Given the description of an element on the screen output the (x, y) to click on. 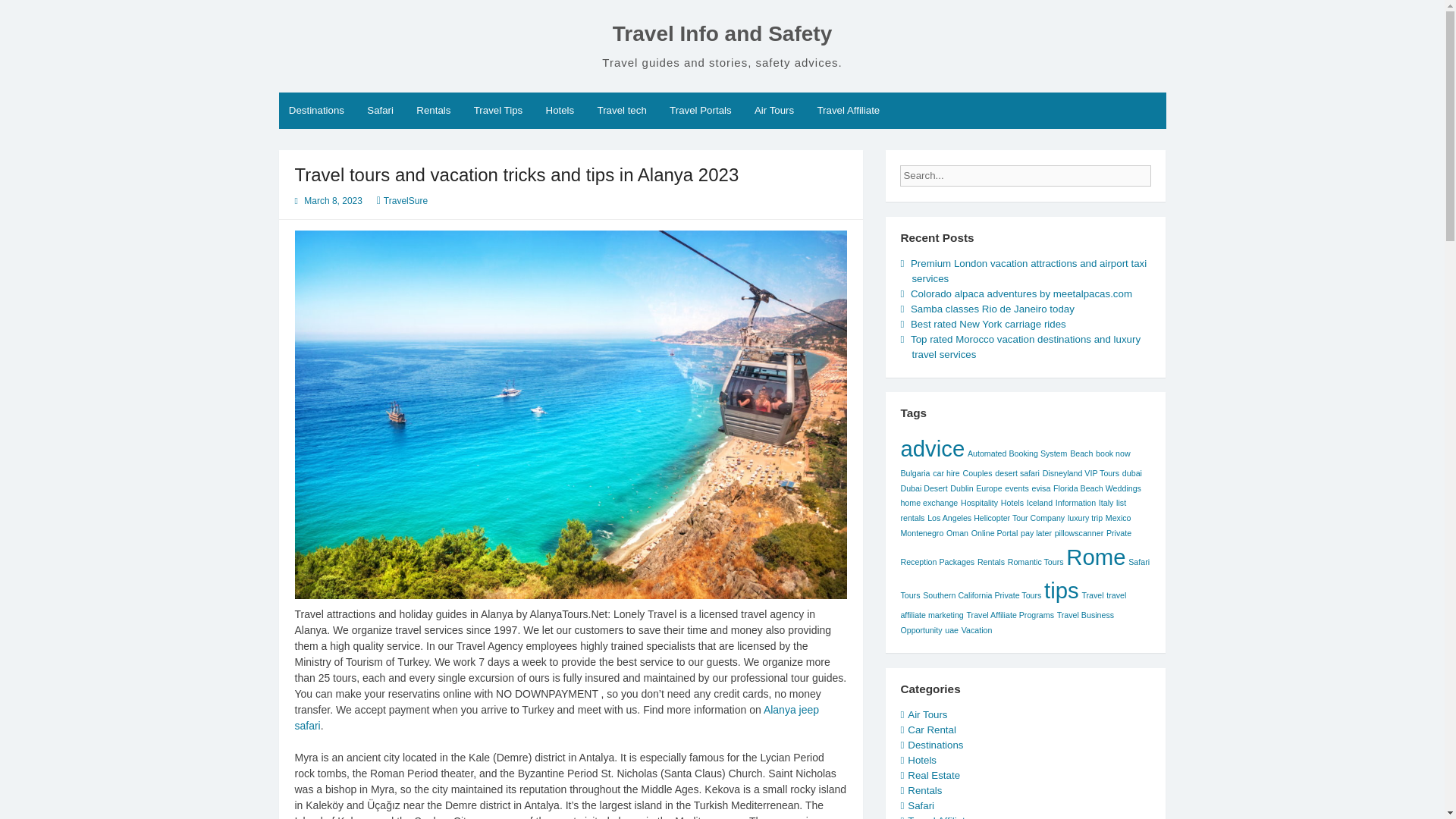
Rentals (433, 110)
advice (931, 448)
Europe (988, 488)
book now (1113, 452)
Travel Tips (497, 110)
Travel tech (621, 110)
Dubai Desert (923, 488)
Automated Booking System (1017, 452)
Best rated New York carriage rides (988, 324)
